Given the description of an element on the screen output the (x, y) to click on. 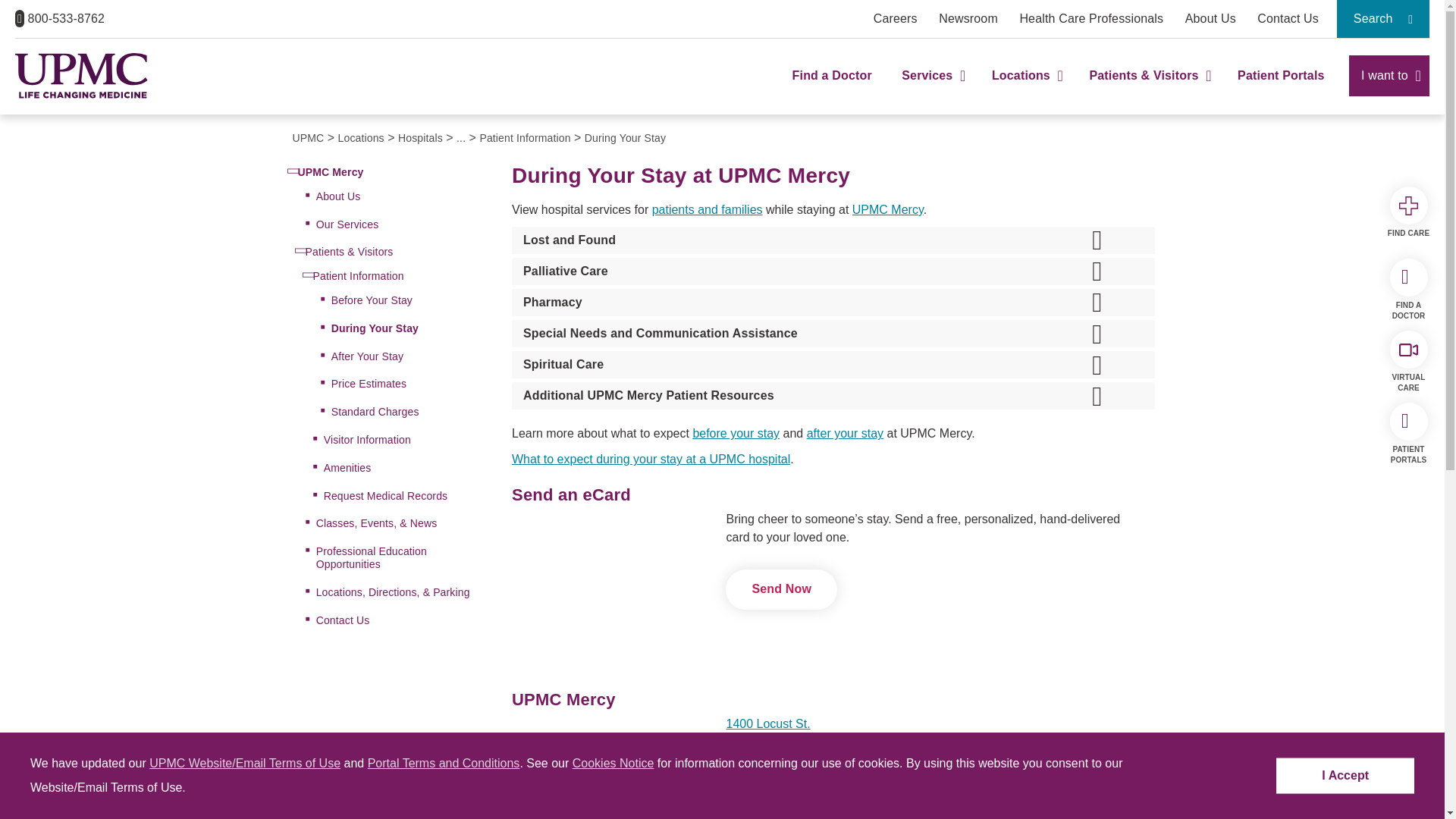
Cookies Notice (612, 762)
Contact UPMC (1288, 18)
Learn more about careers and job openings at UPMC. (895, 18)
Newsroom (968, 18)
Find a Doctor (832, 89)
Search (1382, 18)
Health Care Professionals (1091, 18)
800-533-8762 (59, 18)
Portal Terms and Conditions (443, 762)
UPMC (81, 75)
About Us (1210, 18)
I Accept (1344, 775)
Services (930, 89)
Contact Us (1288, 18)
Careers (895, 18)
